Given the description of an element on the screen output the (x, y) to click on. 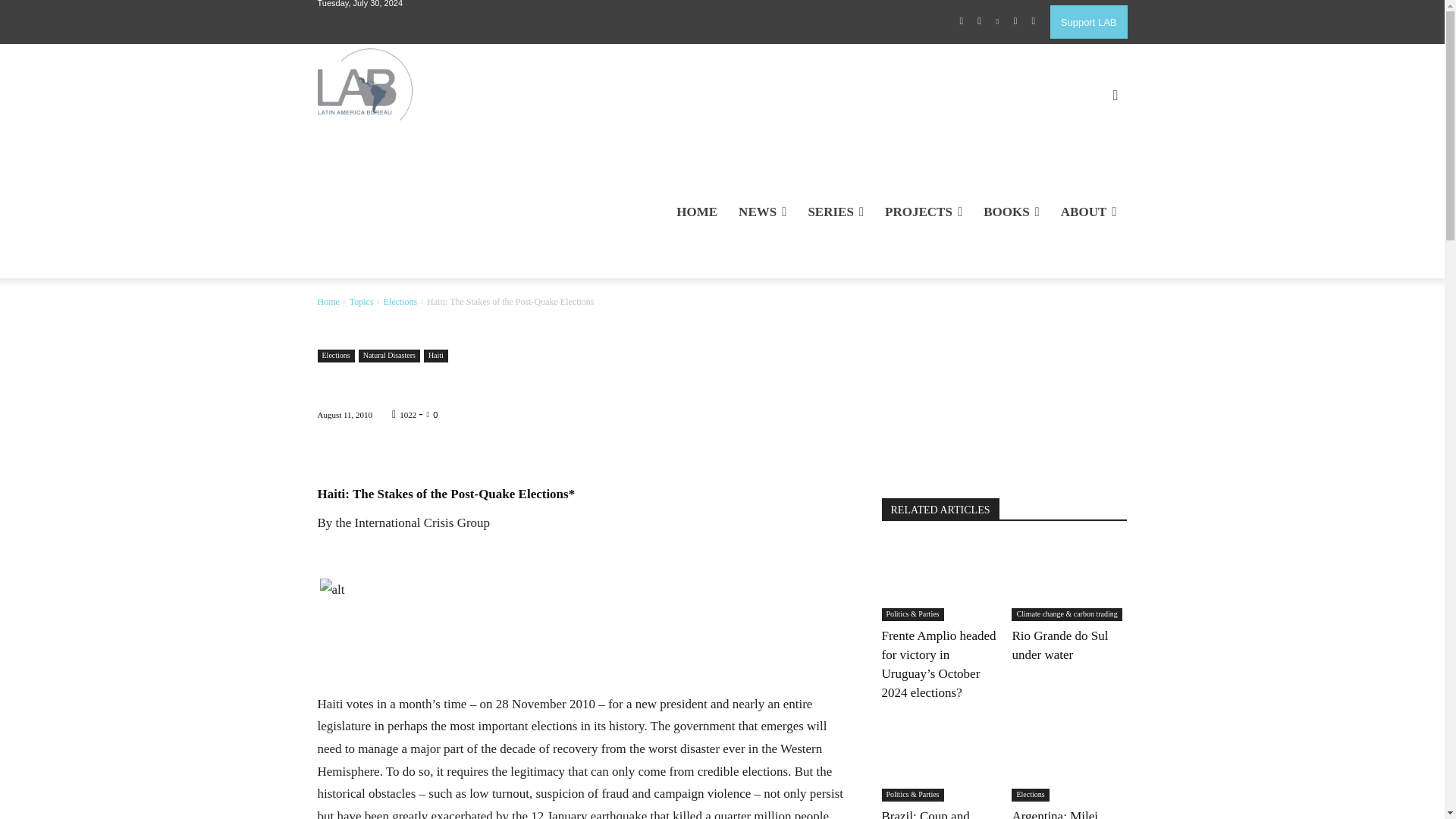
Twitter (1015, 22)
Facebook (961, 22)
Linkedin (997, 22)
Youtube (1033, 22)
Instagram (979, 22)
Support LAB (1087, 21)
